Given the description of an element on the screen output the (x, y) to click on. 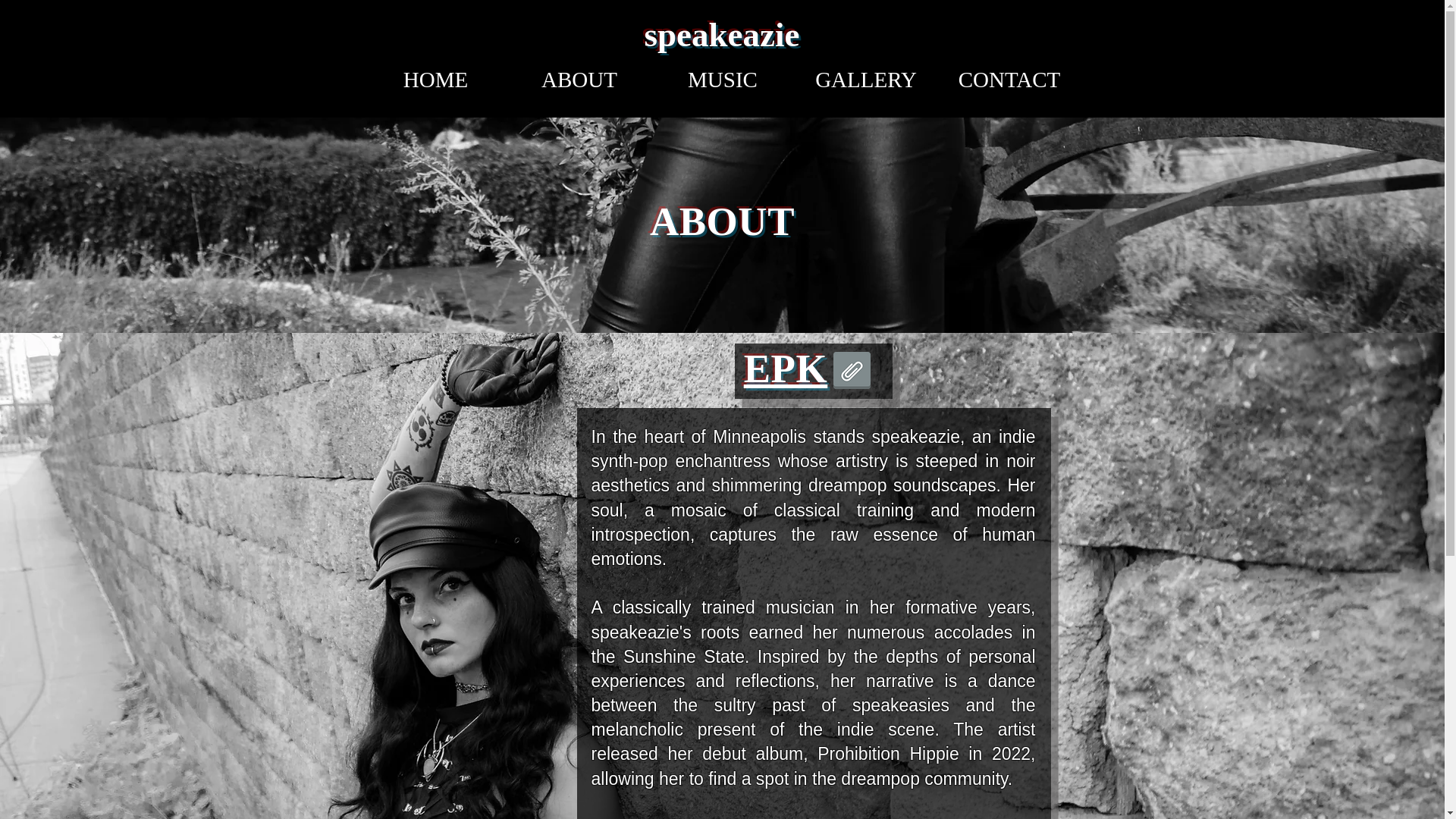
CONTACT (1008, 79)
HOME (436, 79)
GALLERY (865, 79)
MUSIC (721, 79)
ABOUT (579, 79)
speakeazie (722, 34)
